Given the description of an element on the screen output the (x, y) to click on. 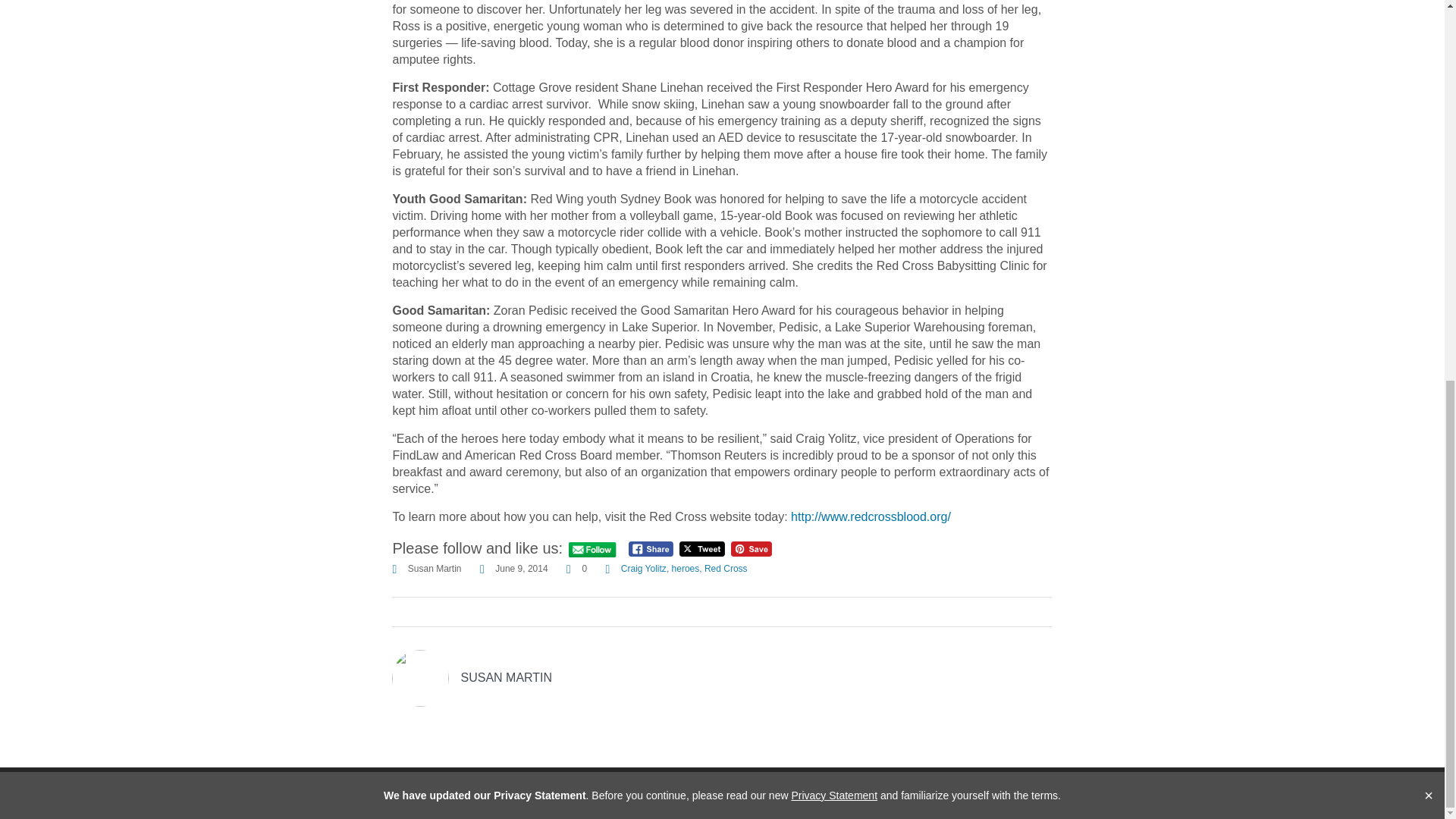
Craig Yolitz (643, 568)
heroes (685, 568)
Red Cross (726, 568)
Thomson Reuters (402, 792)
Privacy statement (1012, 792)
Facebook Share (650, 548)
Copyright (1098, 792)
Tweet (702, 548)
Terms of use (919, 792)
Pin Share (750, 548)
